Given the description of an element on the screen output the (x, y) to click on. 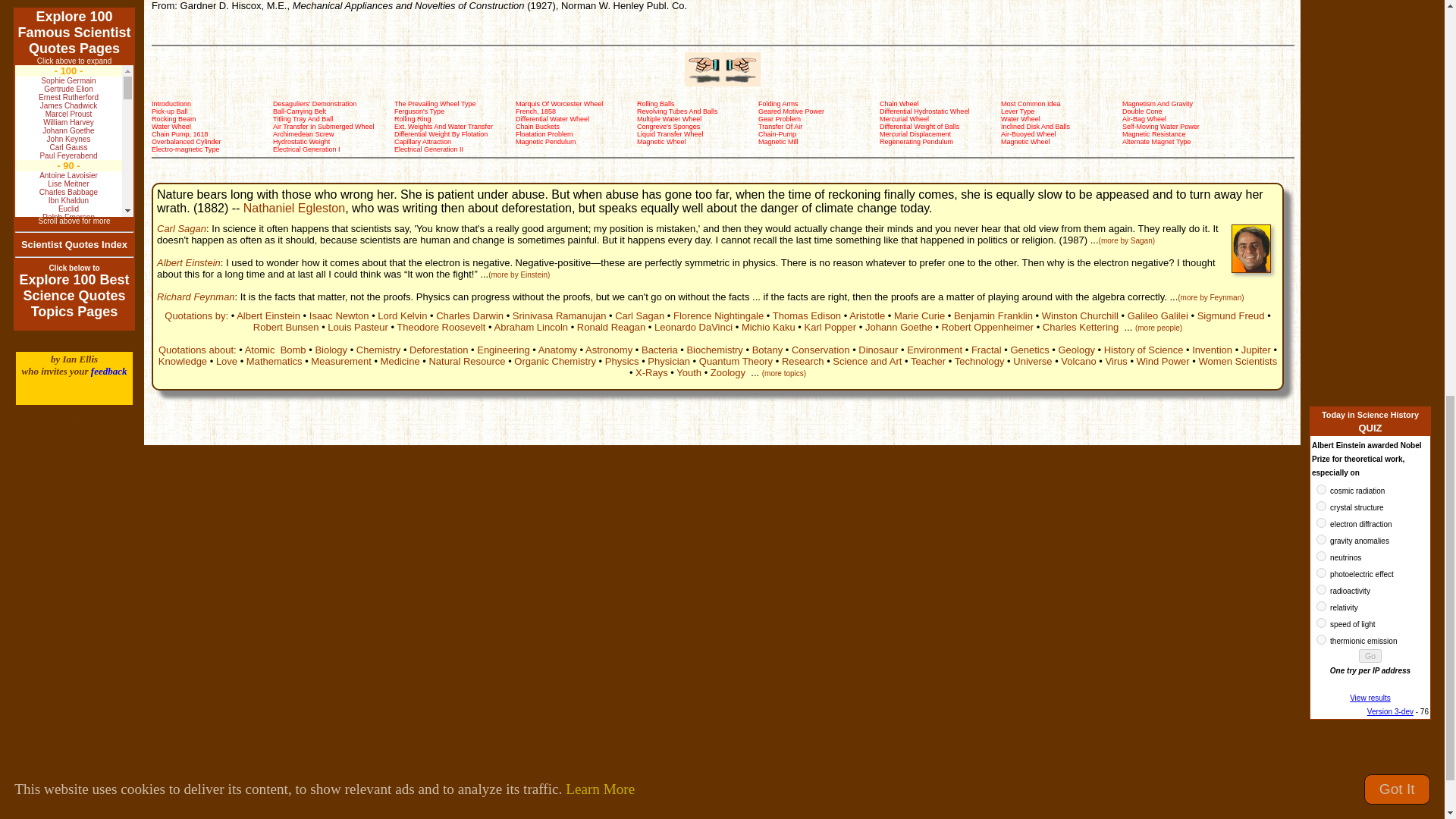
Ferguson's Type (419, 111)
Rolling Ring (412, 118)
Lever Type (1017, 111)
Marquis Of Worcester Wheel (558, 103)
Geared Motive Power (791, 111)
Pick-up Ball (169, 111)
Folding Arms (777, 103)
Desaguliers' Demonstration (314, 103)
French, 1858 (535, 111)
Double Cone (1141, 111)
